Given the description of an element on the screen output the (x, y) to click on. 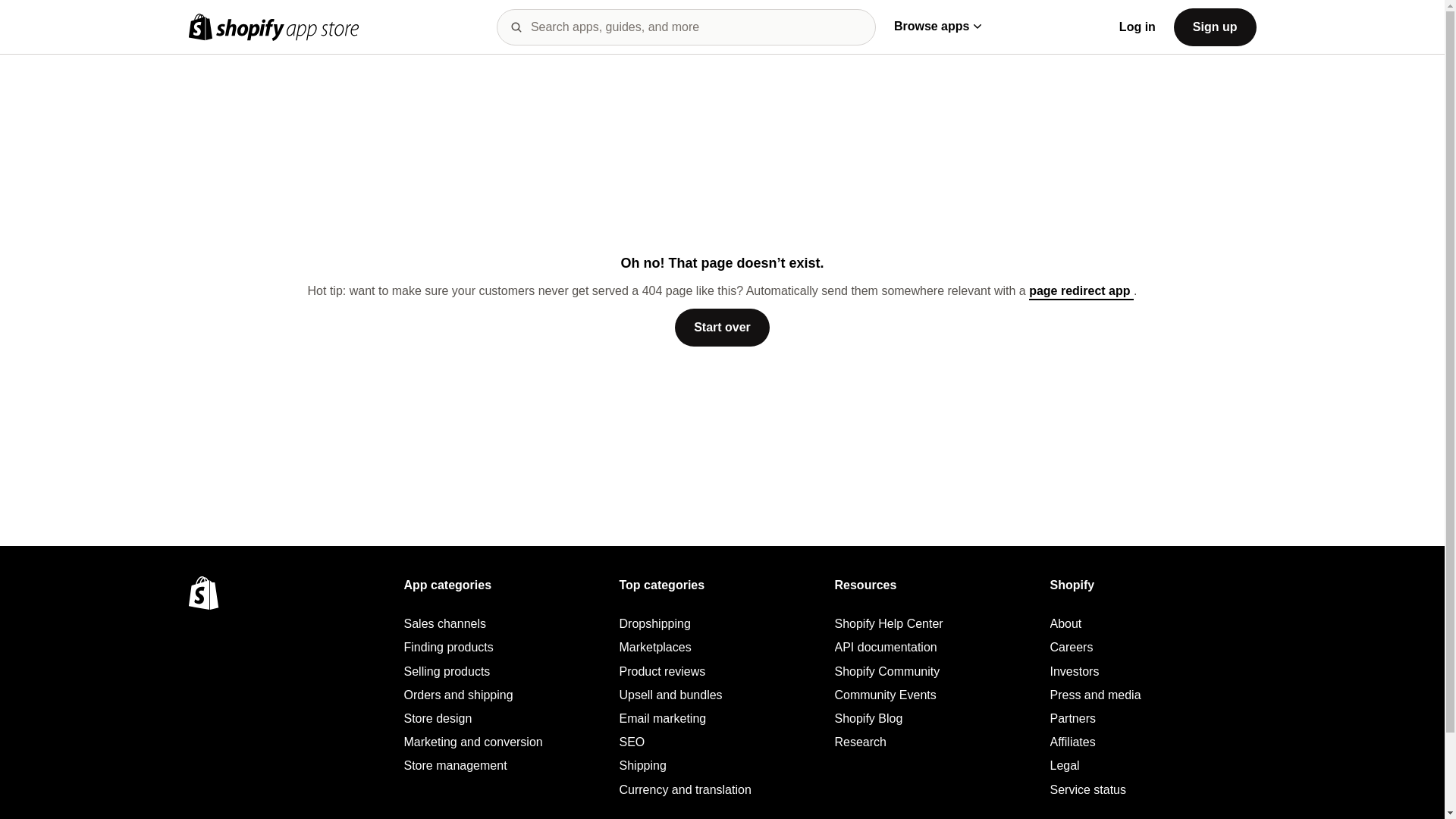
Finding products (506, 647)
page redirect app (1081, 292)
Sales channels (506, 623)
Sign up (1214, 26)
Store design (506, 718)
Browse apps (937, 26)
Selling products (506, 671)
Log in (1137, 27)
Orders and shipping (506, 694)
Start over (722, 327)
